Given the description of an element on the screen output the (x, y) to click on. 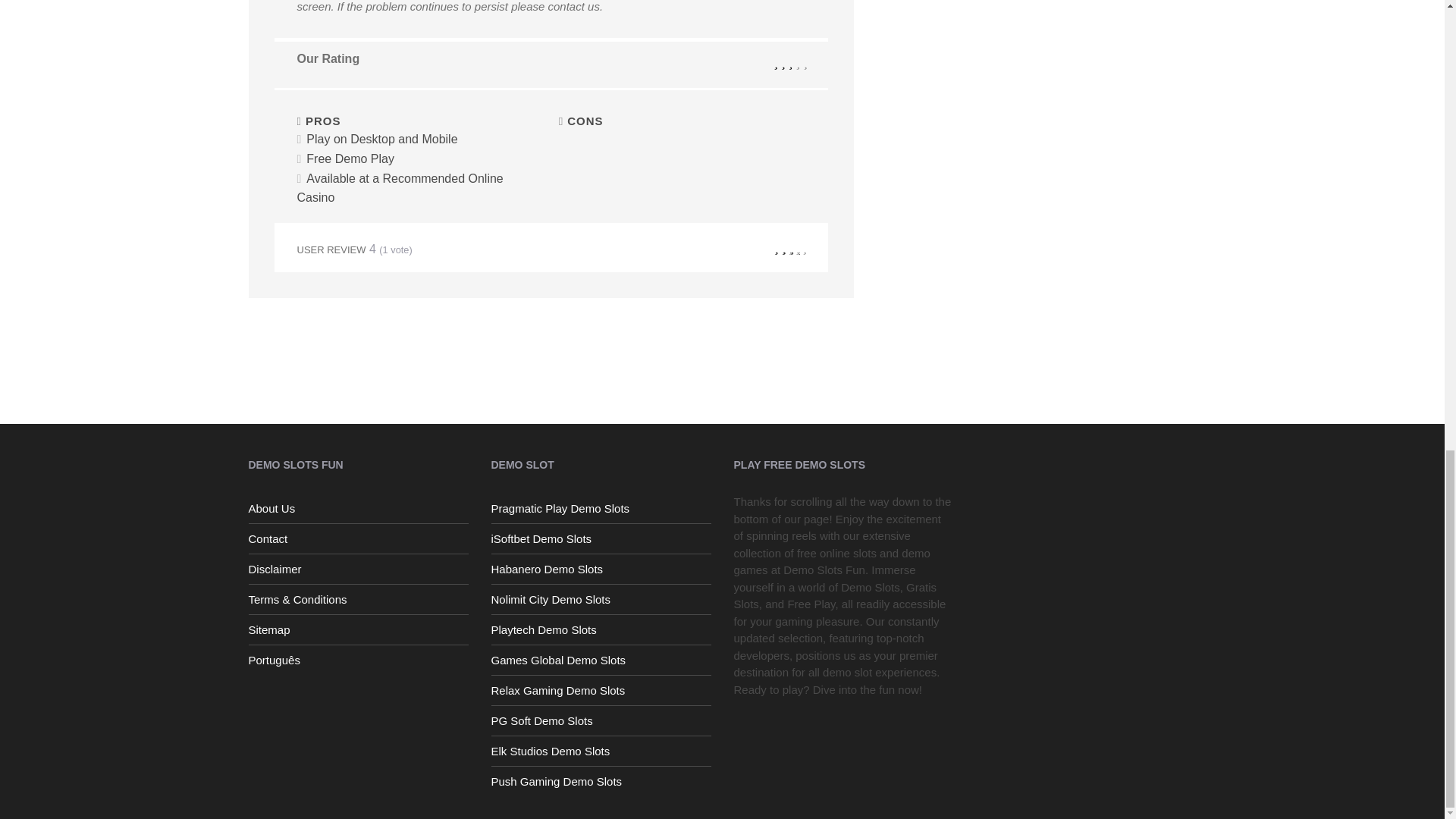
Sitemap (358, 629)
Contact (358, 538)
Elk Studios Demo Slots (601, 751)
Playtech Demo Slots (601, 629)
Relax Gaming Demo Slots (601, 690)
Push Gaming Demo Slots (601, 781)
Habanero Demo Slots (601, 568)
Push Gaming Demo Slots (601, 781)
Disclaimer (358, 568)
Playtech Demo Slots (601, 629)
iSoftbet Demo Slots (601, 538)
iSoftbet Demo Slots (601, 538)
Nolimit City Demo Slots (601, 599)
Pragmatic Play Demo Slots (601, 508)
About Us (358, 508)
